Given the description of an element on the screen output the (x, y) to click on. 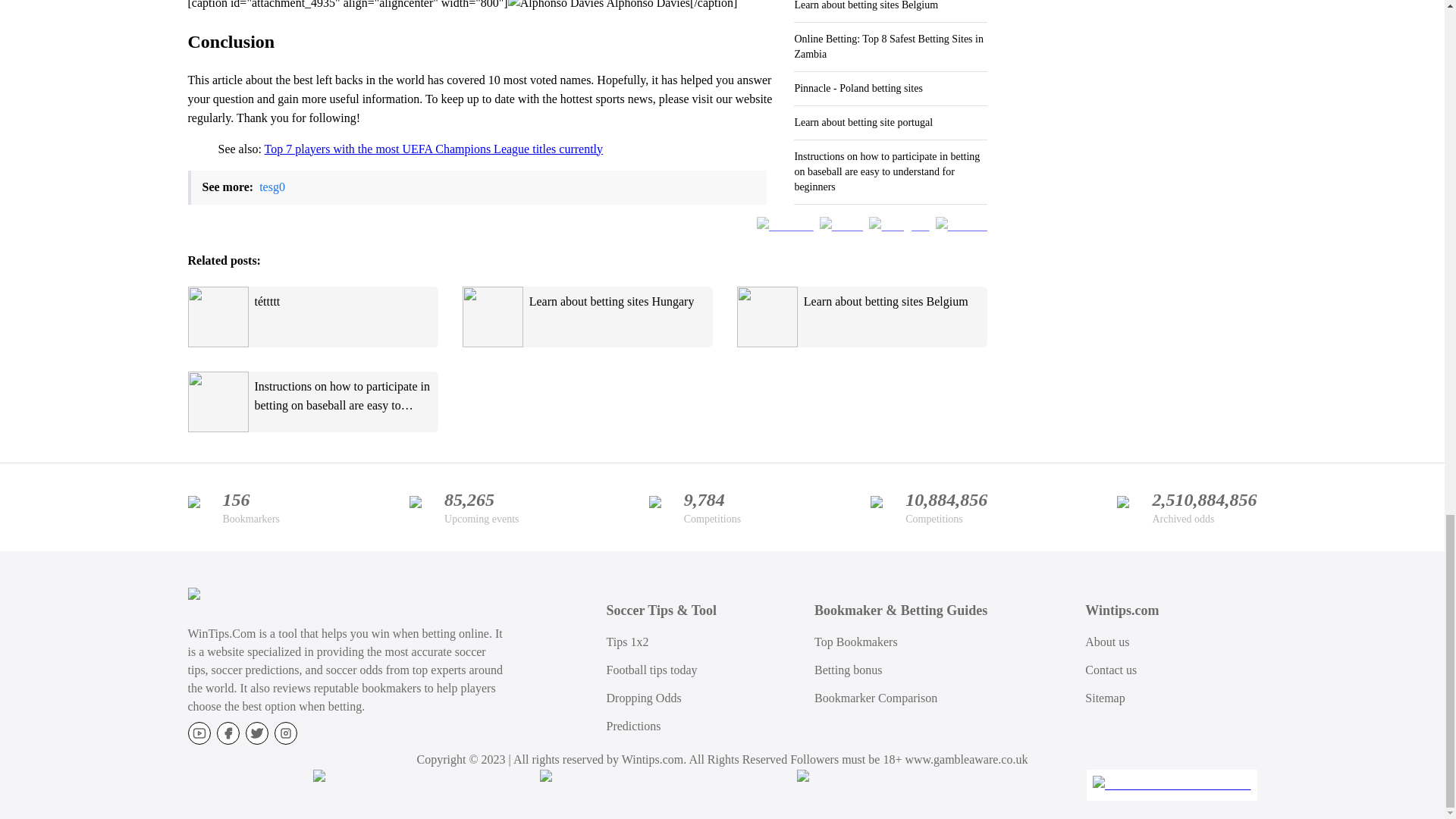
tesg0 (272, 186)
Learn about betting sites Belgium (861, 316)
Predictions (634, 725)
Dropping Odds (644, 697)
Learn about betting sites Hungary (588, 316)
Top Bookmakers (855, 641)
Football tips today (652, 669)
Tips 1x2 (628, 641)
